Given the description of an element on the screen output the (x, y) to click on. 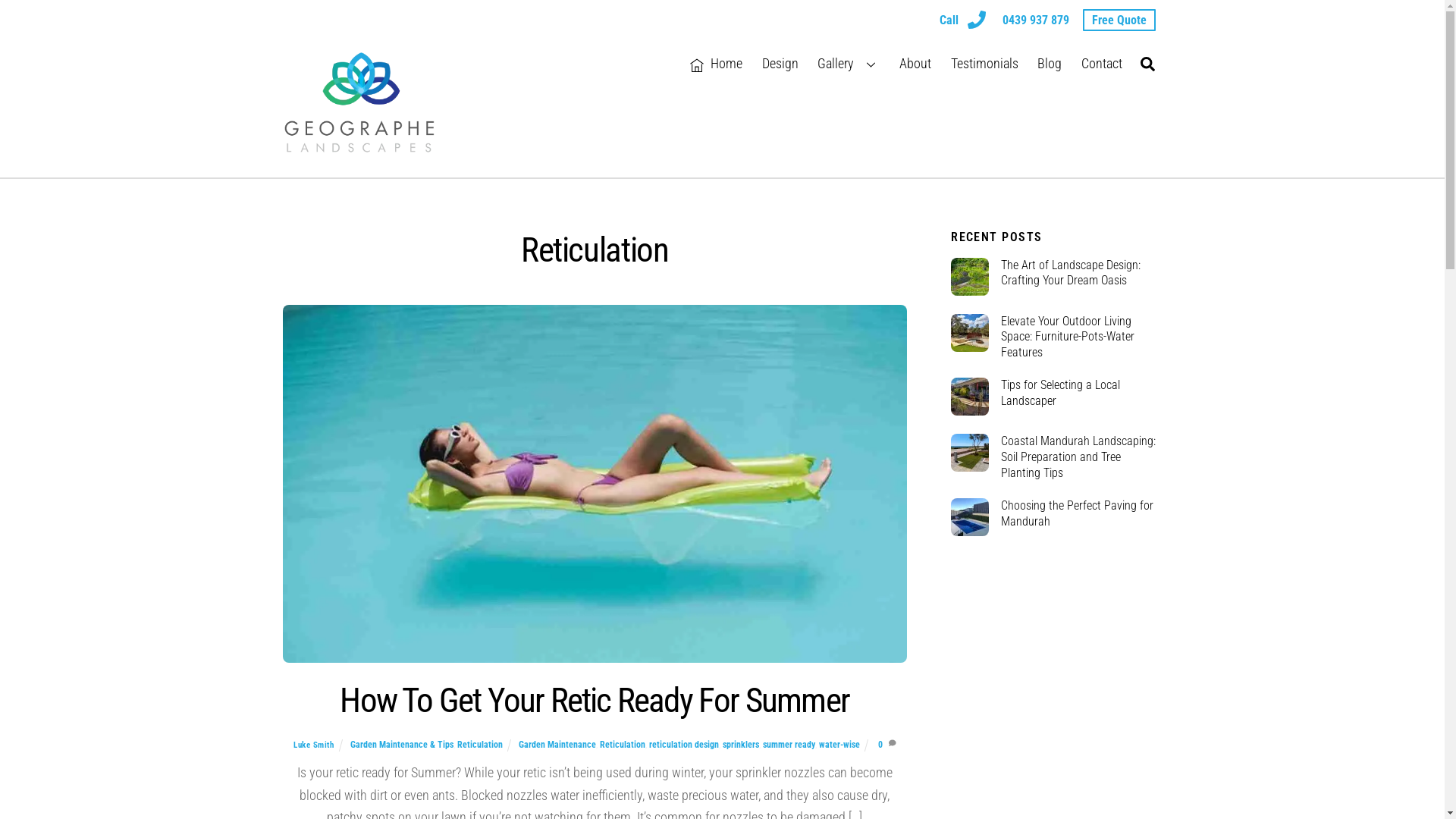
Geographe Landscaping, Native Landscapes Gallery Element type: hover (969, 396)
Luke Smith Element type: text (313, 744)
summer ready Element type: text (788, 744)
Testimonials Element type: text (984, 63)
Contact Element type: text (1101, 63)
Tips for Selecting a Local Landscaper Element type: text (1055, 393)
Search Element type: text (1147, 63)
Turf (12) Element type: hover (969, 452)
summer ready Element type: hover (594, 483)
Call0439 937 879 Element type: text (1004, 19)
Garden Maintenance & Tips Element type: text (401, 744)
water-wise Element type: text (839, 744)
sprinklers Element type: text (740, 744)
Limestone (6) Element type: hover (969, 332)
Reticulation Element type: text (622, 744)
reticulation design Element type: text (683, 744)
Blog Element type: text (1049, 63)
About Element type: text (915, 63)
Reticulation Element type: text (479, 744)
Home Element type: text (715, 63)
Garden Maintenance Element type: text (557, 744)
Choosing the Perfect Paving for Mandurah Element type: text (1055, 514)
Geographe Landscapes, Logo Element type: hover (357, 101)
0 Element type: text (880, 744)
Landscape Design Element type: hover (969, 276)
Geographe Landscapes Element type: hover (357, 144)
The Art of Landscape Design: Crafting Your Dream Oasis Element type: text (1055, 273)
Design Element type: text (779, 63)
Outdoor Areas (1) Element type: hover (969, 517)
Gallery Element type: text (848, 63)
Free Quote Element type: text (1118, 20)
